Given the description of an element on the screen output the (x, y) to click on. 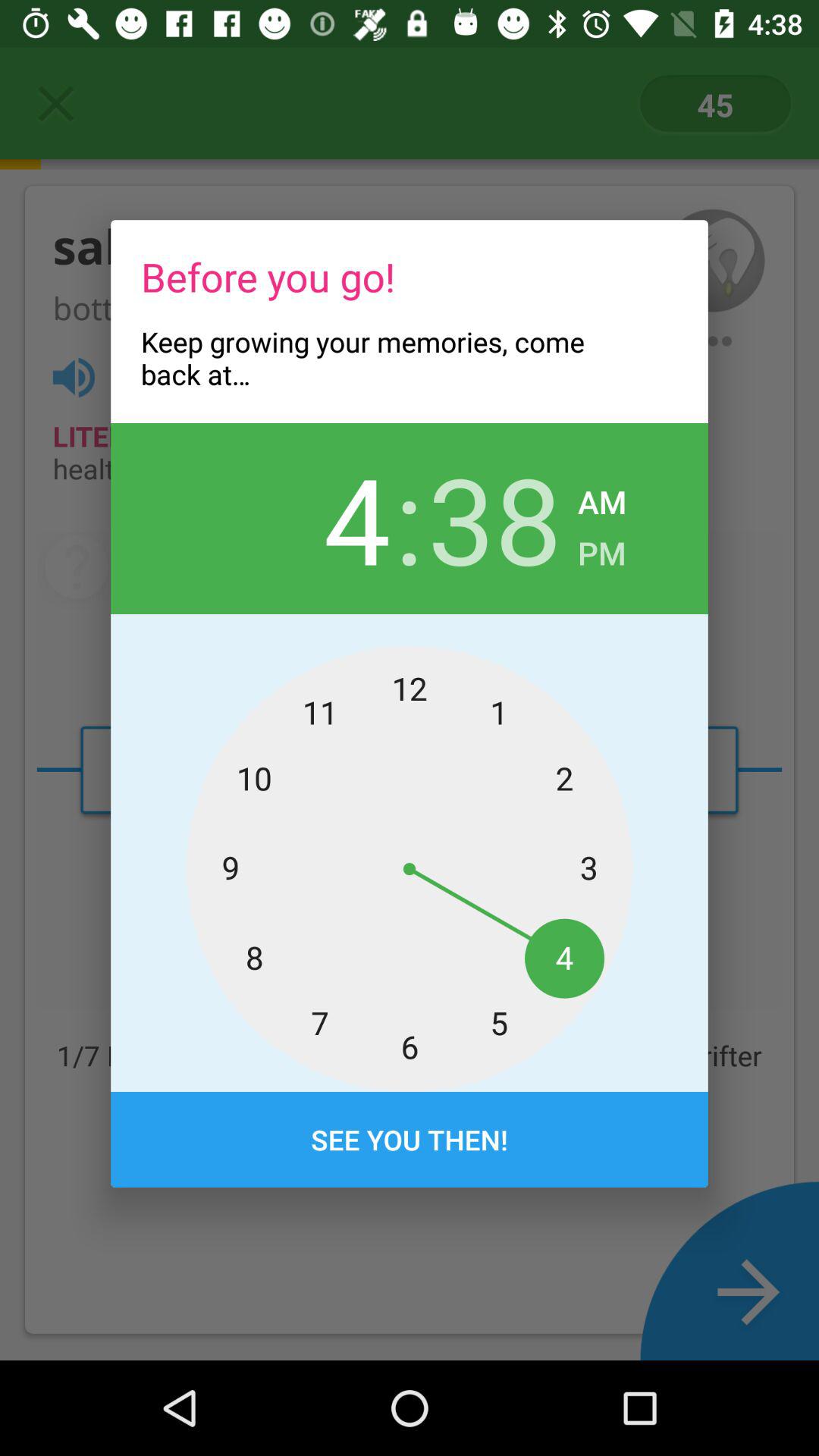
choose item to the right of 38 item (601, 548)
